Given the description of an element on the screen output the (x, y) to click on. 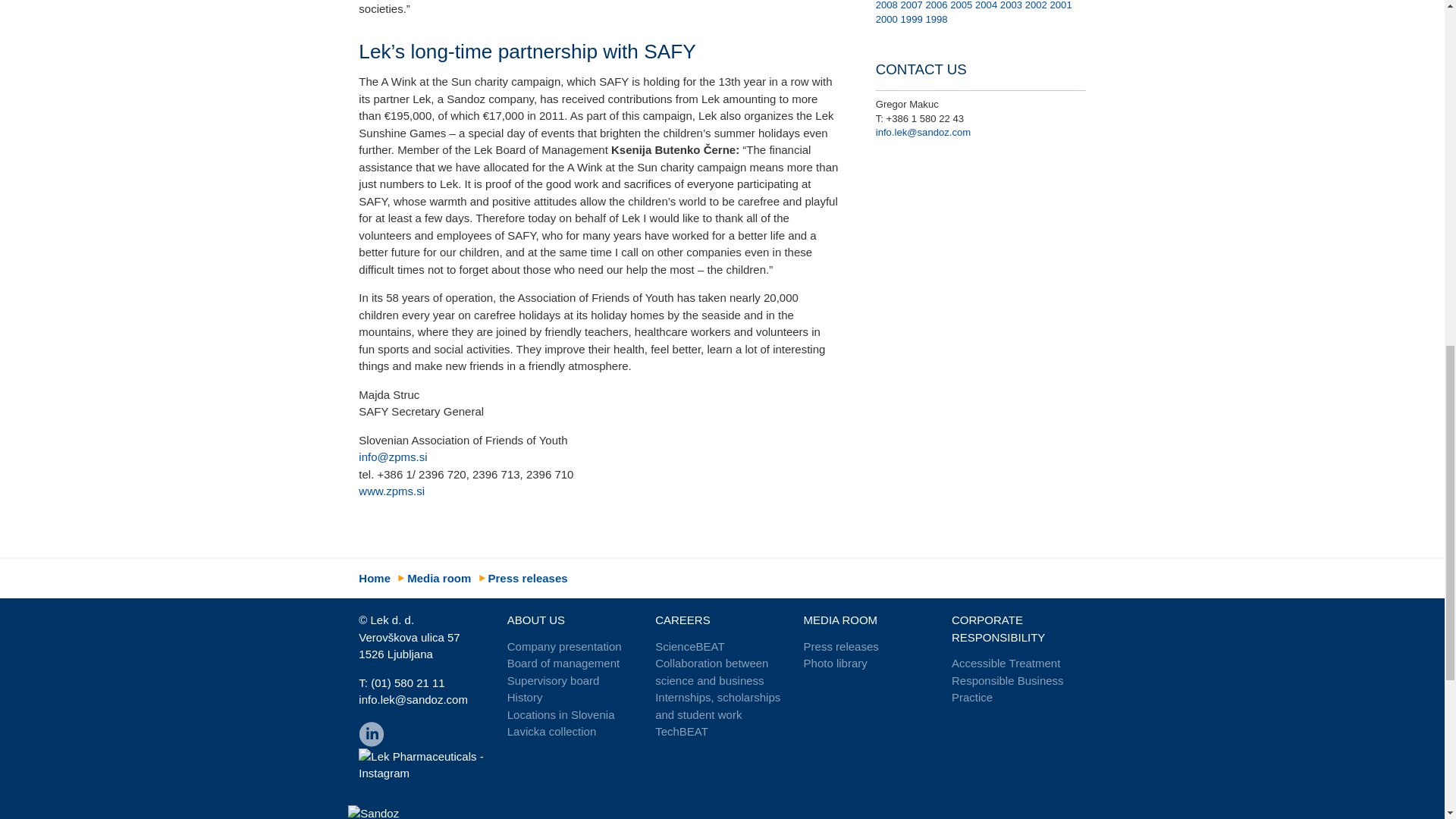
www.zpms.si (391, 490)
